Given the description of an element on the screen output the (x, y) to click on. 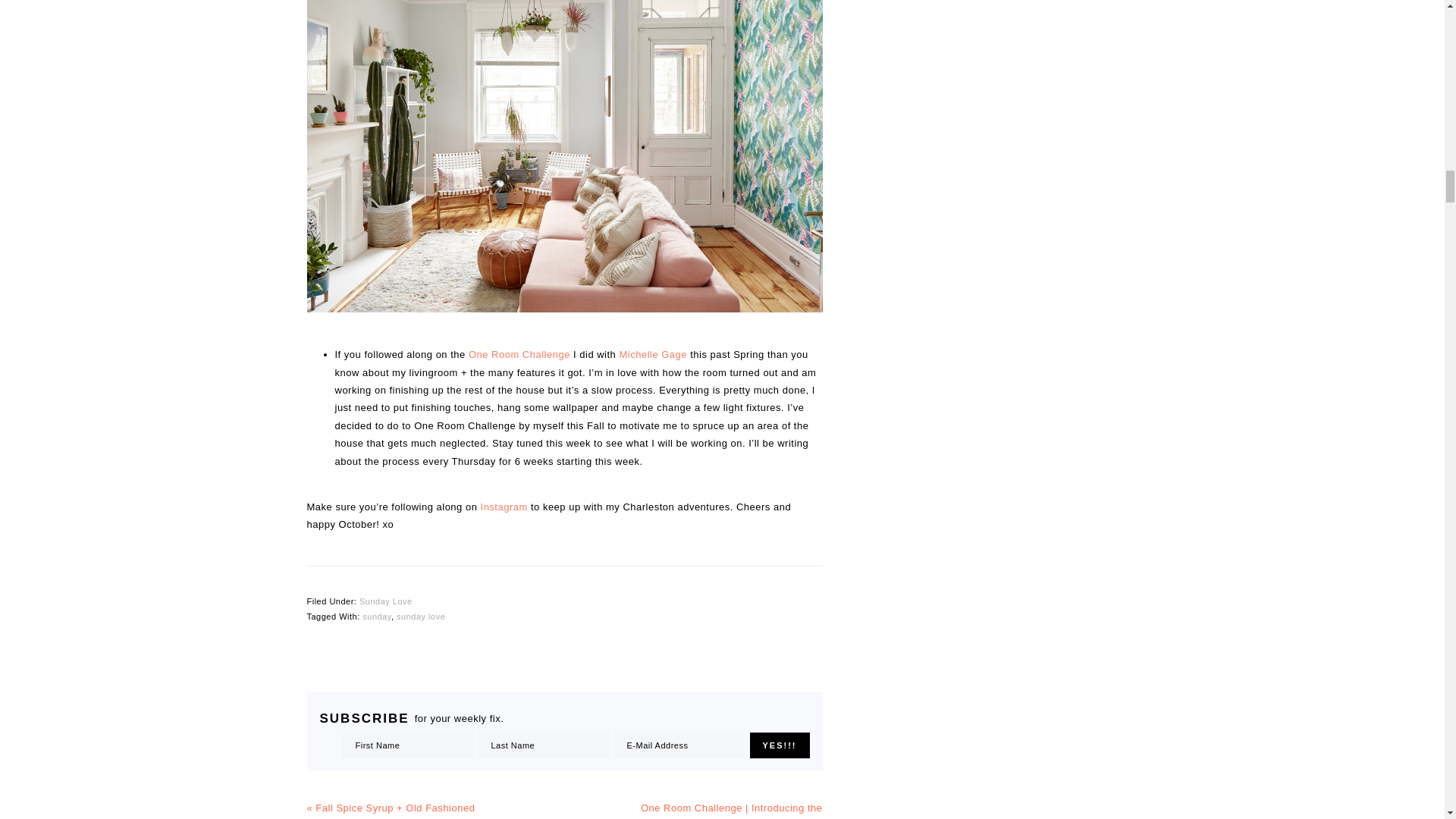
Sunday Love (385, 601)
sunday (376, 614)
Yes!!! (779, 745)
Yes!!! (779, 745)
Michelle Gage (652, 354)
One Room Challenge (519, 354)
sunday love (420, 614)
Instagram (503, 506)
